Given the description of an element on the screen output the (x, y) to click on. 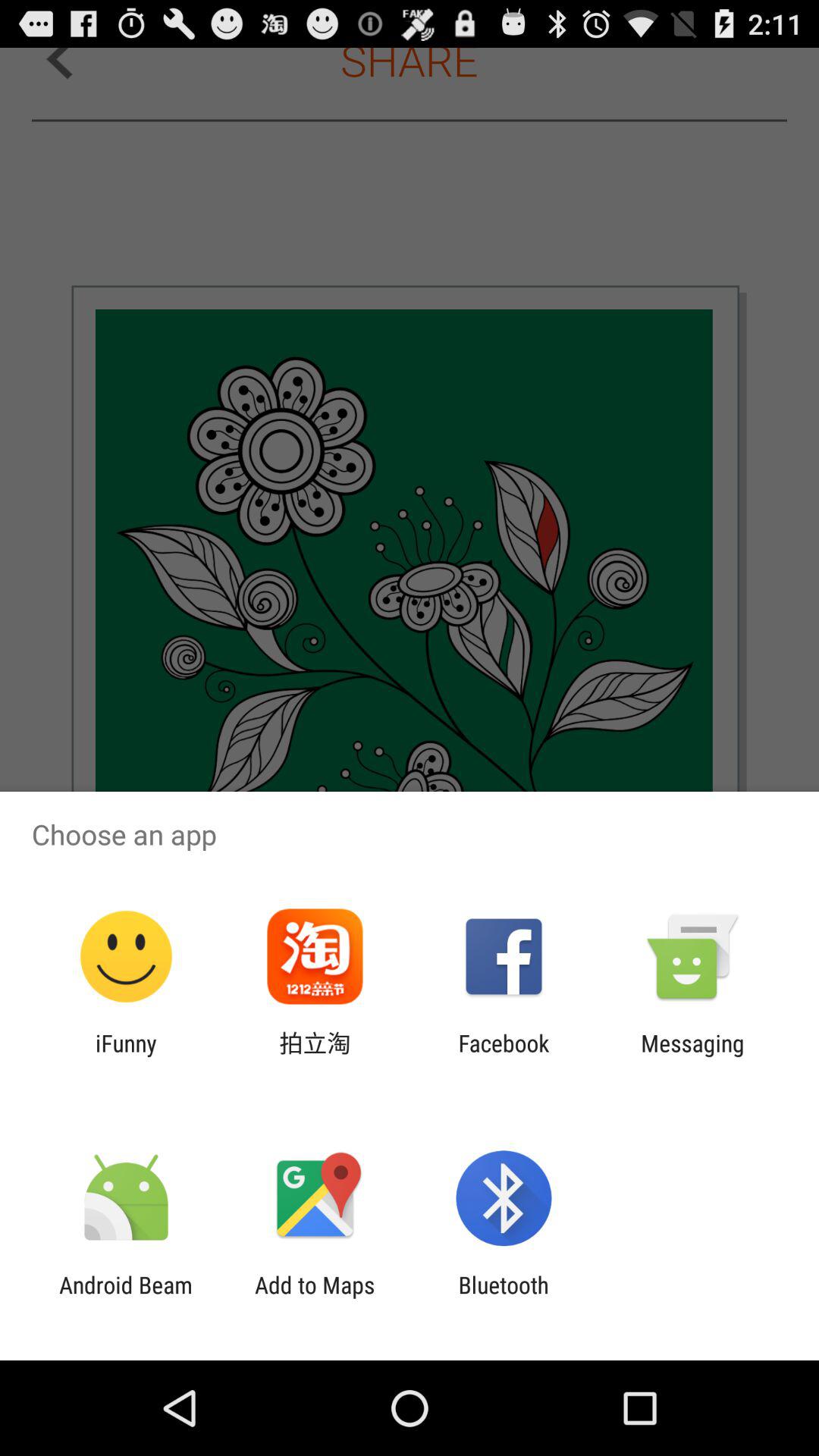
scroll to the add to maps app (314, 1298)
